Given the description of an element on the screen output the (x, y) to click on. 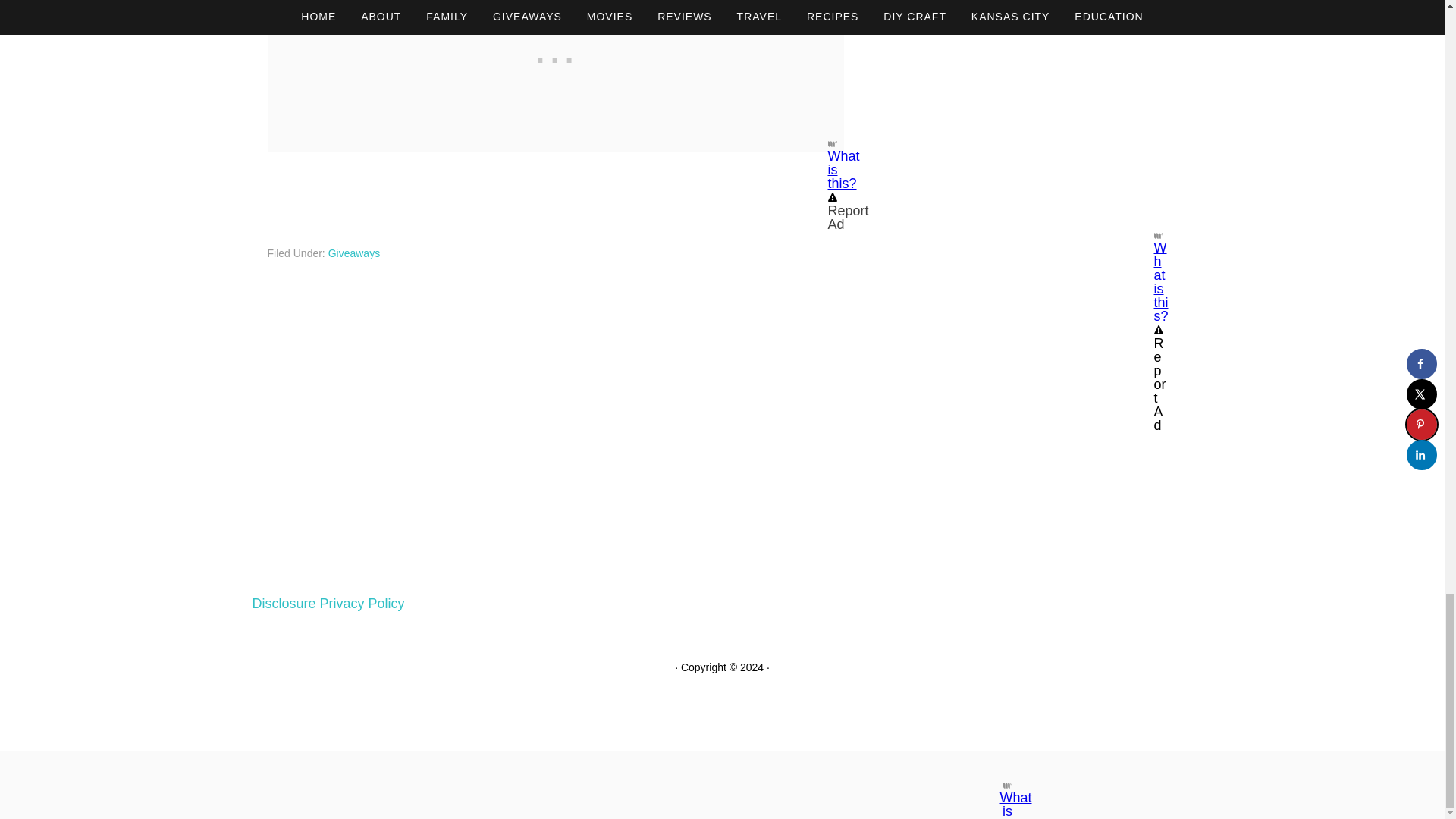
Giveaways (354, 253)
Disclosure (283, 603)
Privacy Policy (362, 603)
